Given the description of an element on the screen output the (x, y) to click on. 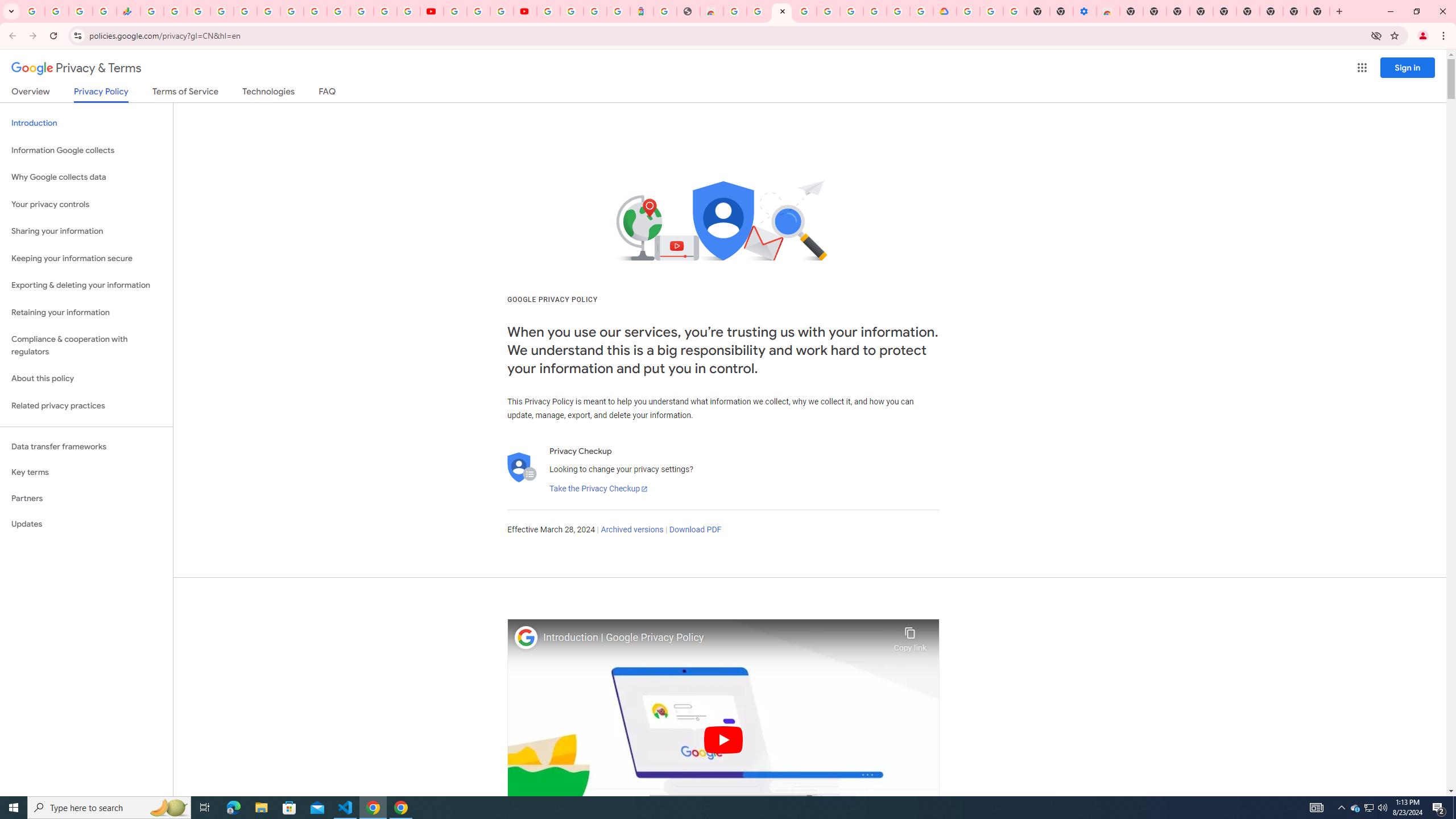
Sign in - Google Accounts (547, 11)
Archived versions (631, 529)
Terms of Service (184, 93)
Privacy & Terms (76, 68)
Sign in - Google Accounts (827, 11)
Sign in - Google Accounts (338, 11)
Create your Google Account (897, 11)
